Given the description of an element on the screen output the (x, y) to click on. 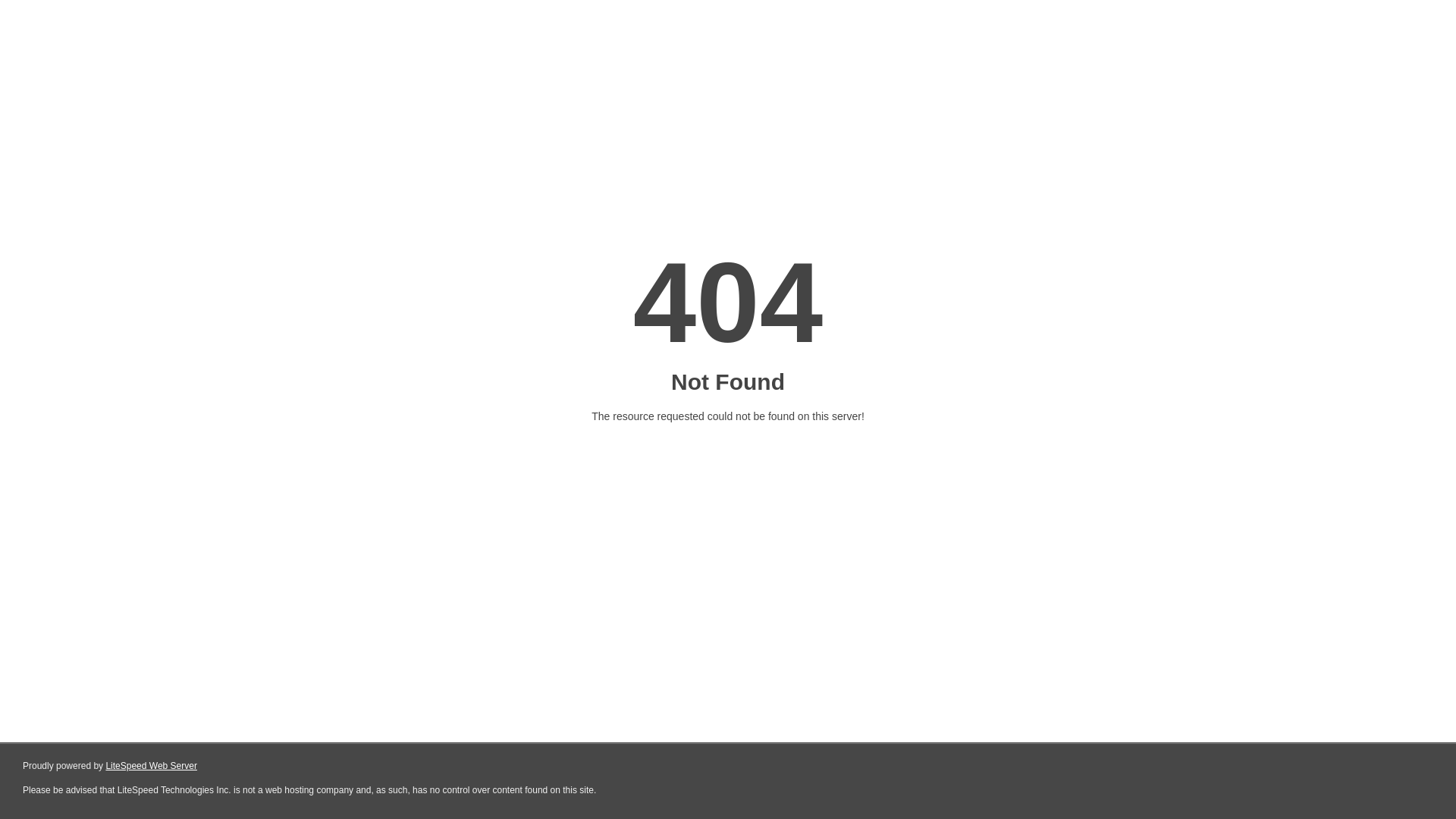
LiteSpeed Web Server Element type: text (151, 765)
